Given the description of an element on the screen output the (x, y) to click on. 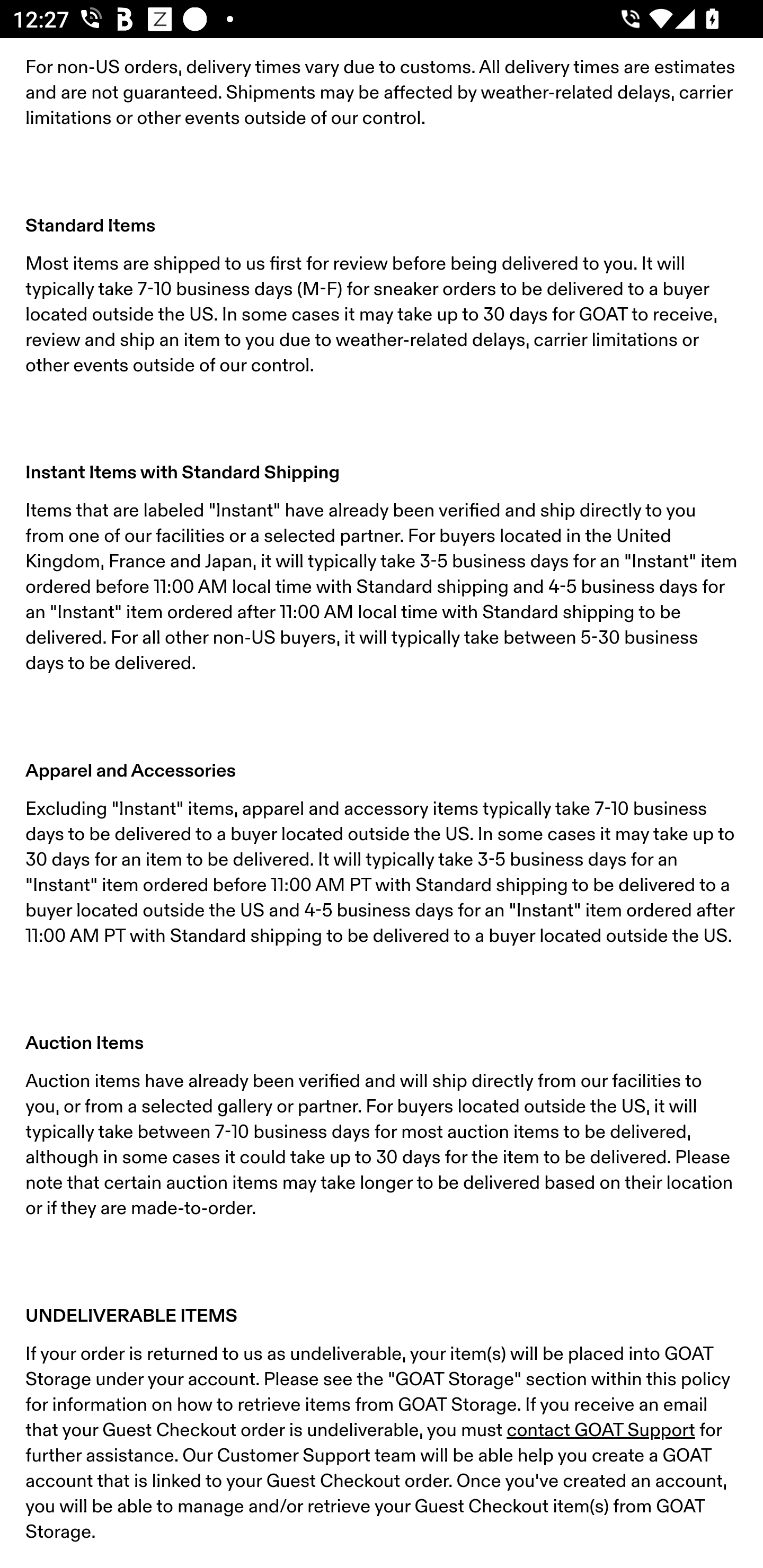
contact GOAT Support (600, 1431)
